Given the description of an element on the screen output the (x, y) to click on. 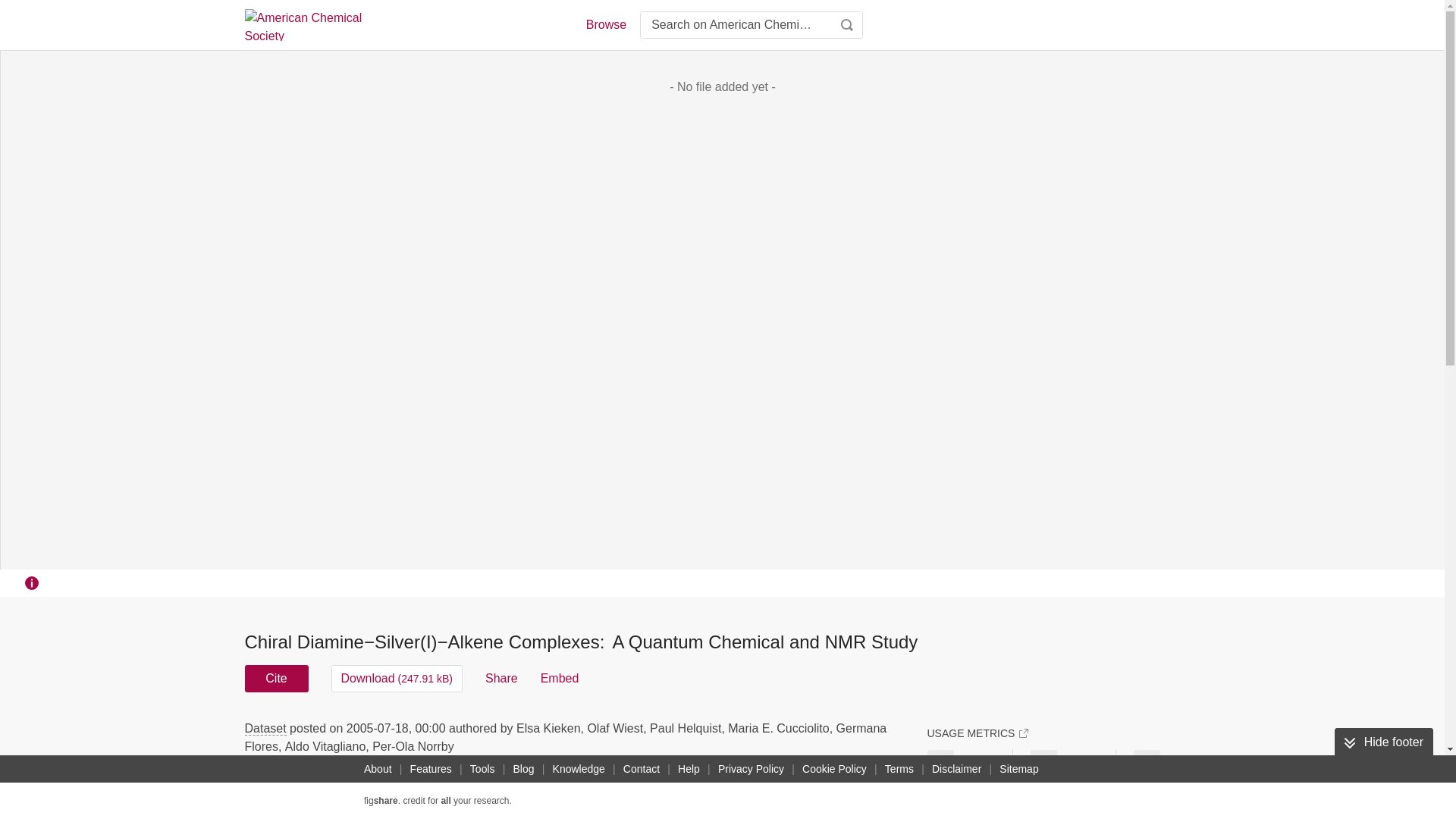
Browse (605, 24)
Blog (523, 769)
Tools (482, 769)
Share (501, 678)
Knowledge (579, 769)
Hide footer (1383, 742)
About (377, 769)
Cite (275, 678)
USAGE METRICS (976, 732)
Embed (559, 678)
